Given the description of an element on the screen output the (x, y) to click on. 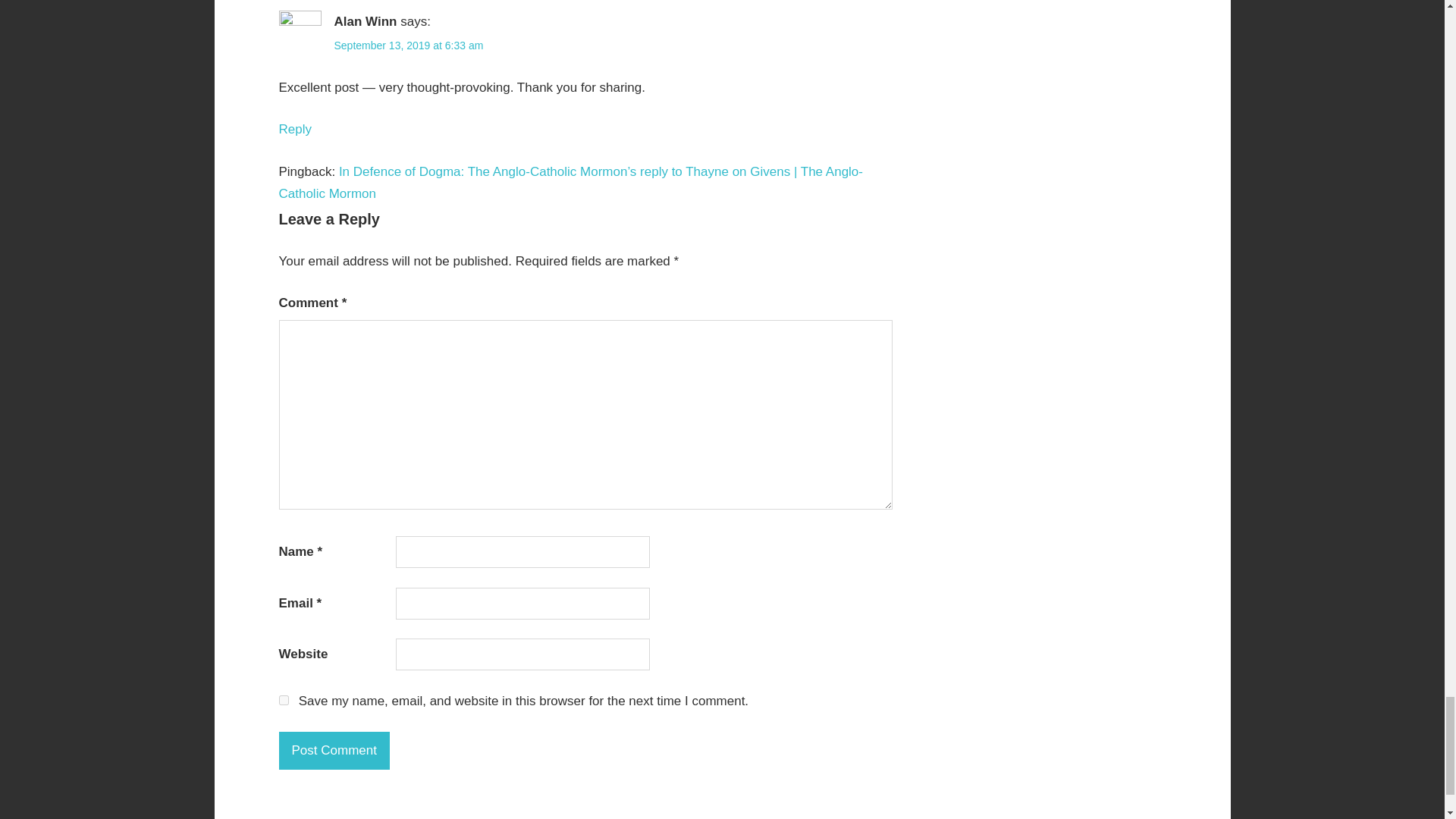
September 13, 2019 at 6:33 am (408, 45)
Post Comment (334, 750)
yes (283, 700)
Post Comment (334, 750)
Reply (295, 129)
